Given the description of an element on the screen output the (x, y) to click on. 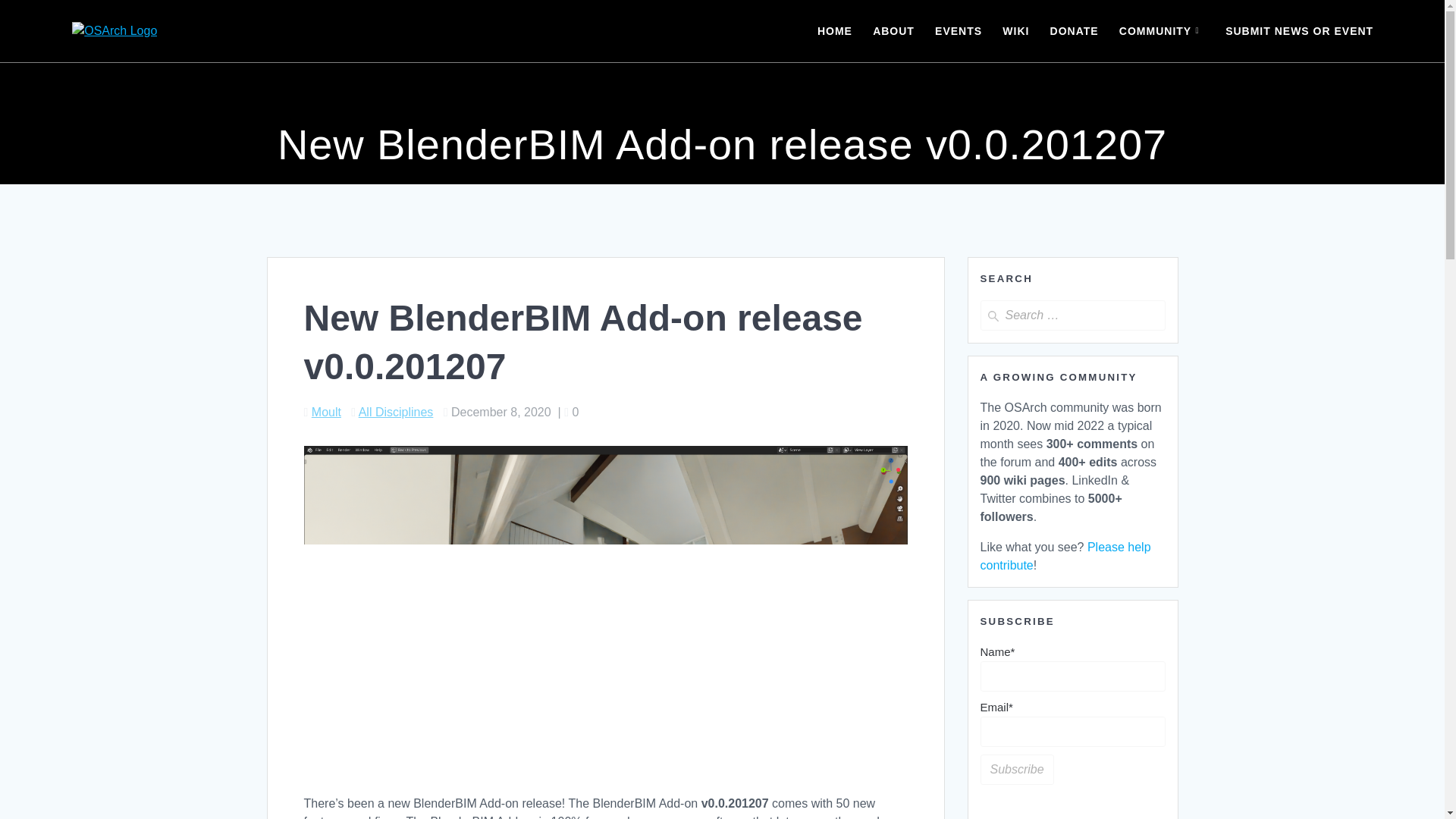
Posts by Moult (325, 411)
Moult (325, 411)
COMMUNITY (1162, 30)
Subscribe (1015, 769)
DONATE (1074, 30)
ABOUT (893, 30)
HOME (833, 30)
SUBMIT NEWS OR EVENT (1299, 30)
All Disciplines (395, 411)
WIKI (1016, 30)
EVENTS (957, 30)
